Given the description of an element on the screen output the (x, y) to click on. 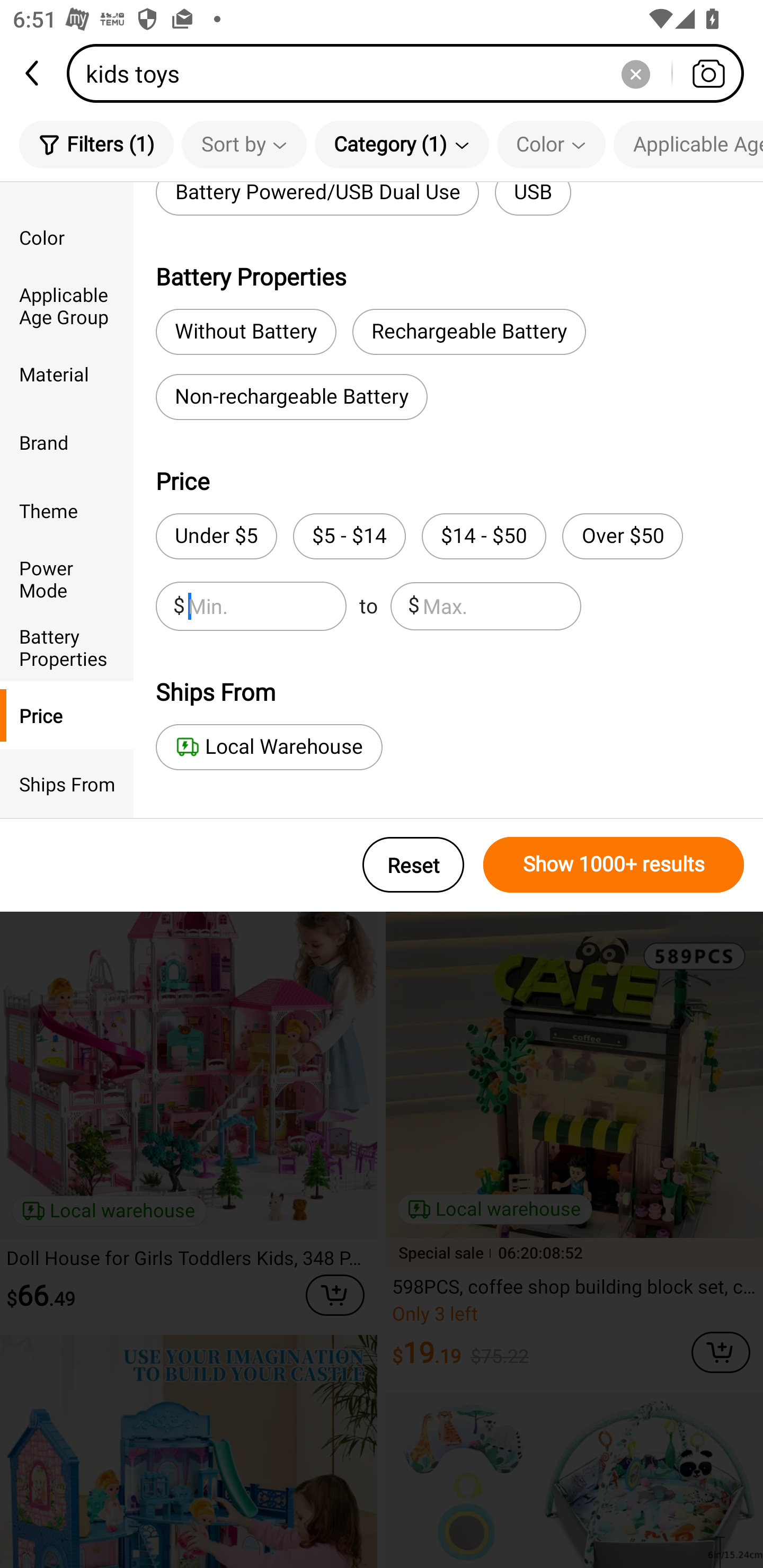
back (33, 72)
kids toys (411, 73)
Delete search history (635, 73)
Search by photo (708, 73)
Filters (1) (96, 143)
Sort by (243, 143)
Category (1) (401, 143)
Color (550, 143)
Applicable Age Group (688, 143)
Battery Powered/USB Dual Use (317, 198)
USB (533, 198)
Color (66, 236)
Applicable Age Group (66, 305)
Without Battery (245, 331)
Rechargeable Battery (468, 331)
Material (66, 373)
Non-rechargeable Battery (291, 397)
Brand (66, 441)
Theme (66, 510)
Under $5 (215, 535)
$5 - $14 (348, 535)
$14 - $50 (483, 535)
Over $50 (622, 535)
Power Mode (66, 578)
$ Min. to $ Max. (368, 605)
Battery Properties (66, 646)
Price (66, 714)
Local Warehouse (268, 746)
Ships From (66, 783)
Reset (412, 864)
Show 1000+ results (612, 864)
